Given the description of an element on the screen output the (x, y) to click on. 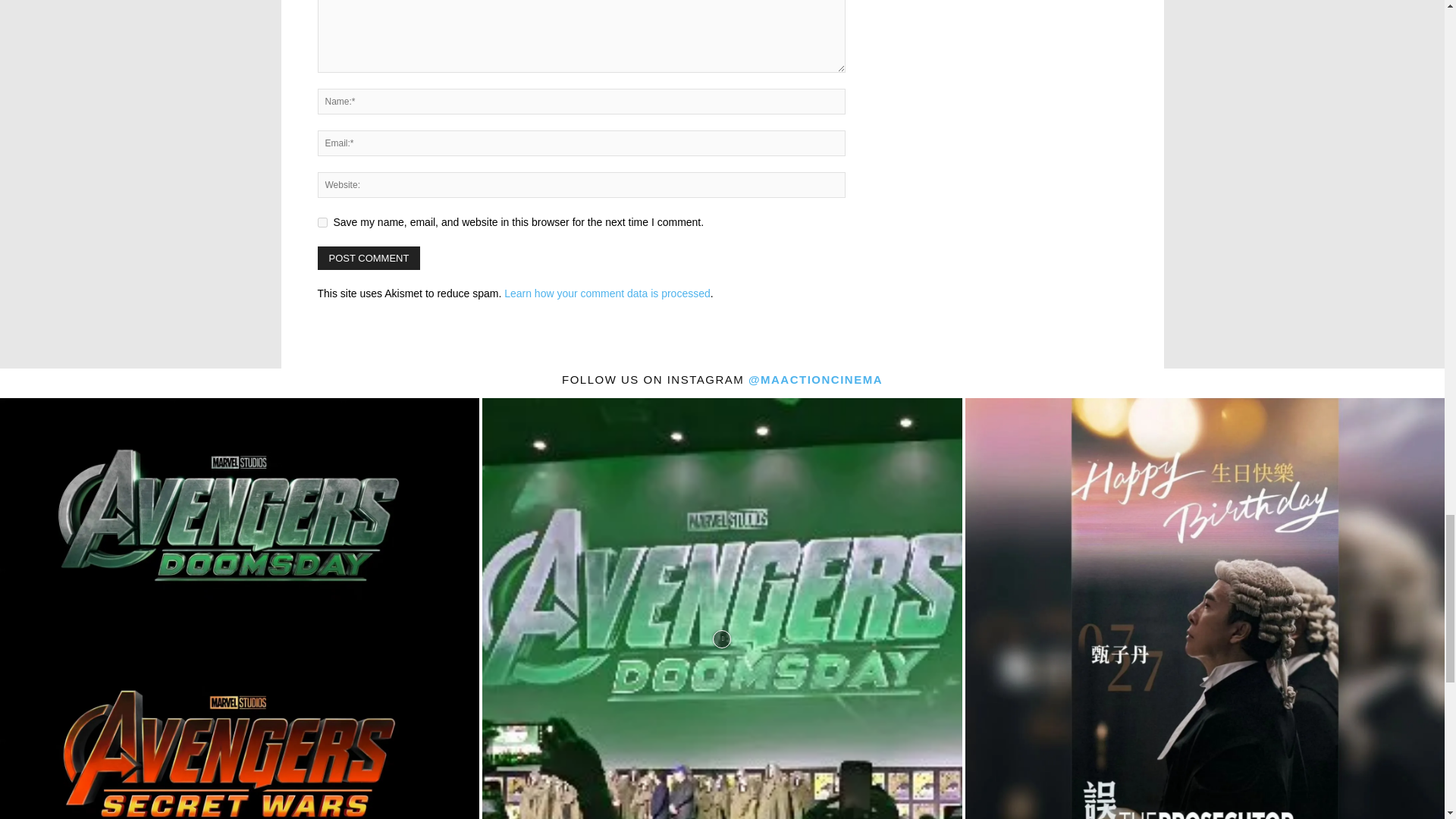
Post Comment (368, 258)
yes (321, 222)
